Given the description of an element on the screen output the (x, y) to click on. 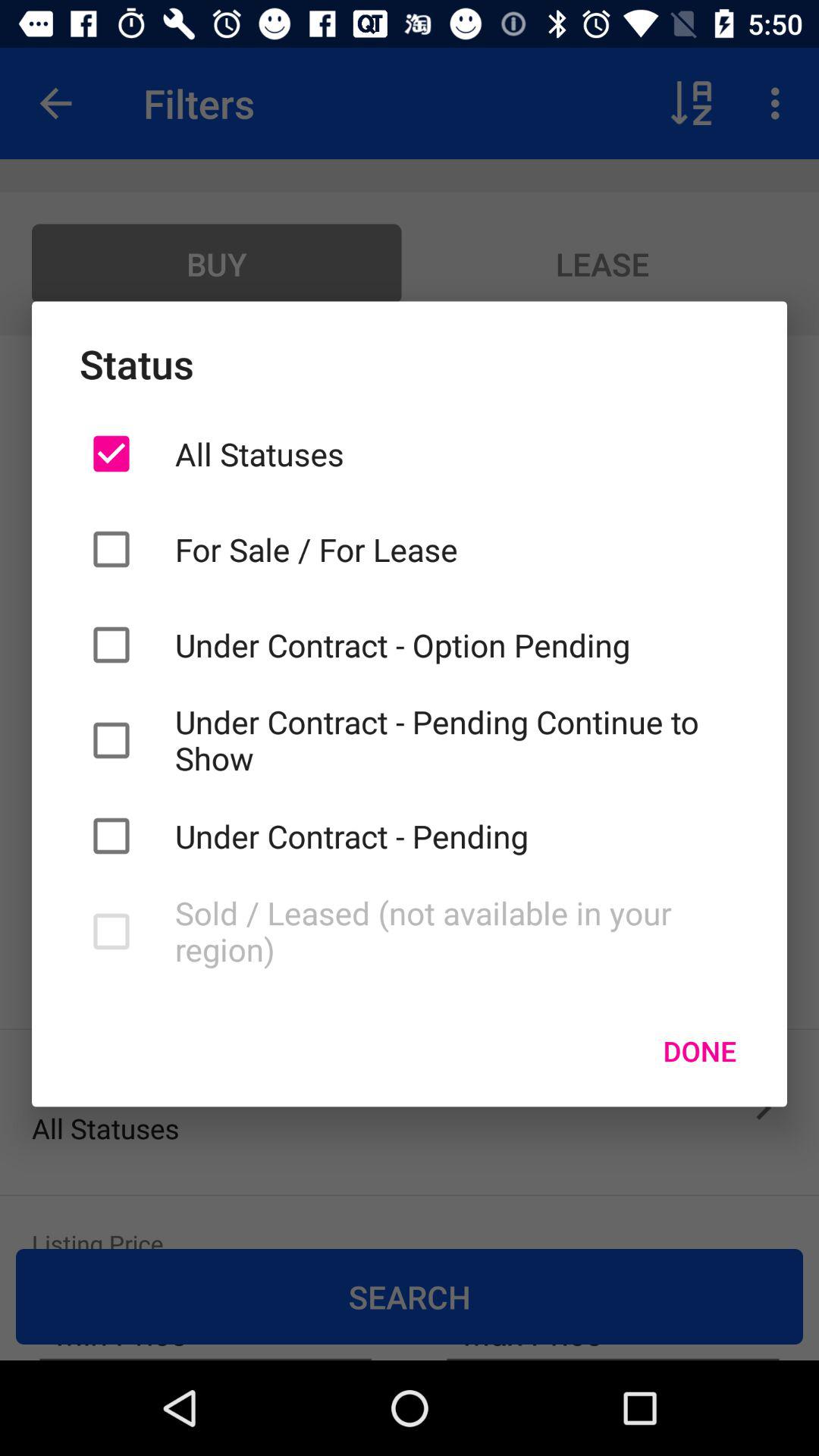
flip to the all statuses icon (457, 453)
